Given the description of an element on the screen output the (x, y) to click on. 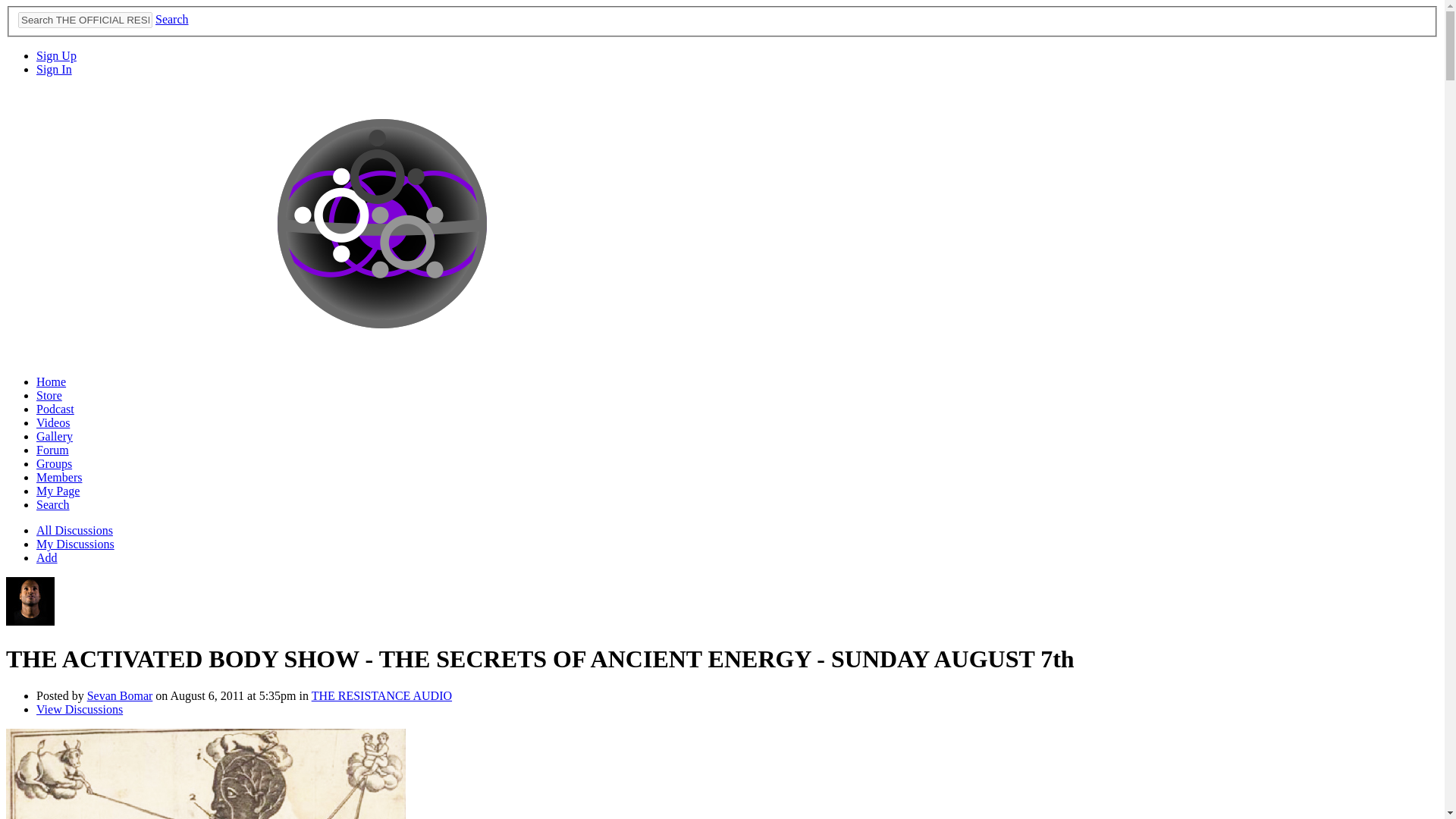
Home (50, 381)
Gallery (54, 436)
THE RESISTANCE AUDIO (381, 695)
Add (47, 557)
Groups (53, 463)
Search THE OFFICIAL RESISTANCE (84, 19)
on August 6, 2011 at 5:35pm in (231, 695)
Members (58, 477)
Search (172, 19)
View Discussions (79, 708)
Sign Up (56, 55)
Store (49, 395)
Sign In (53, 69)
Podcast (55, 408)
Sevan Bomar (119, 695)
